Given the description of an element on the screen output the (x, y) to click on. 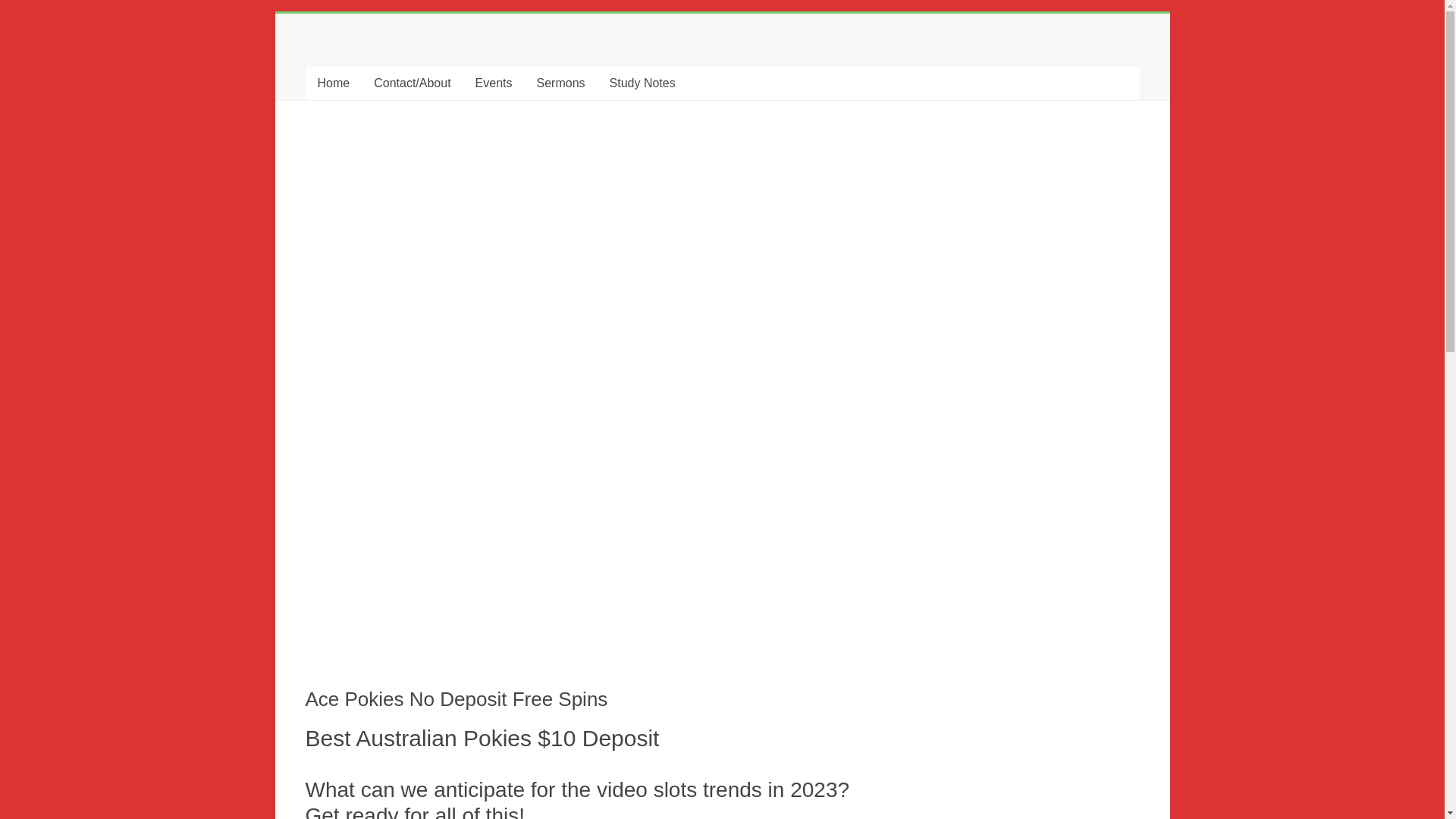
Lifeboat Ministries (362, 70)
Lifeboat Ministries (362, 70)
Events (493, 82)
Home (332, 82)
Study Notes (641, 82)
Sermons (560, 82)
